Given the description of an element on the screen output the (x, y) to click on. 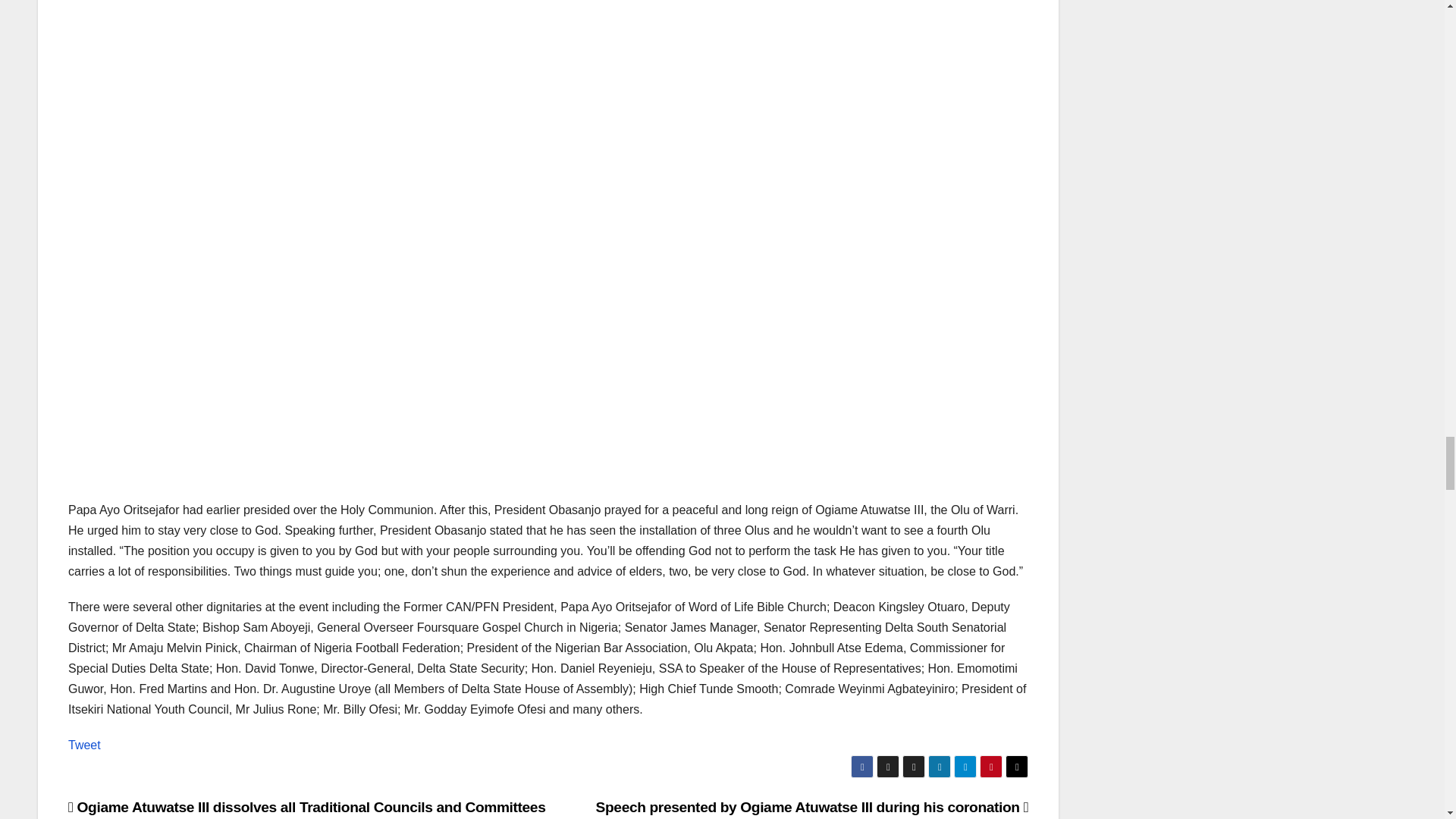
Tweet (84, 744)
